Given the description of an element on the screen output the (x, y) to click on. 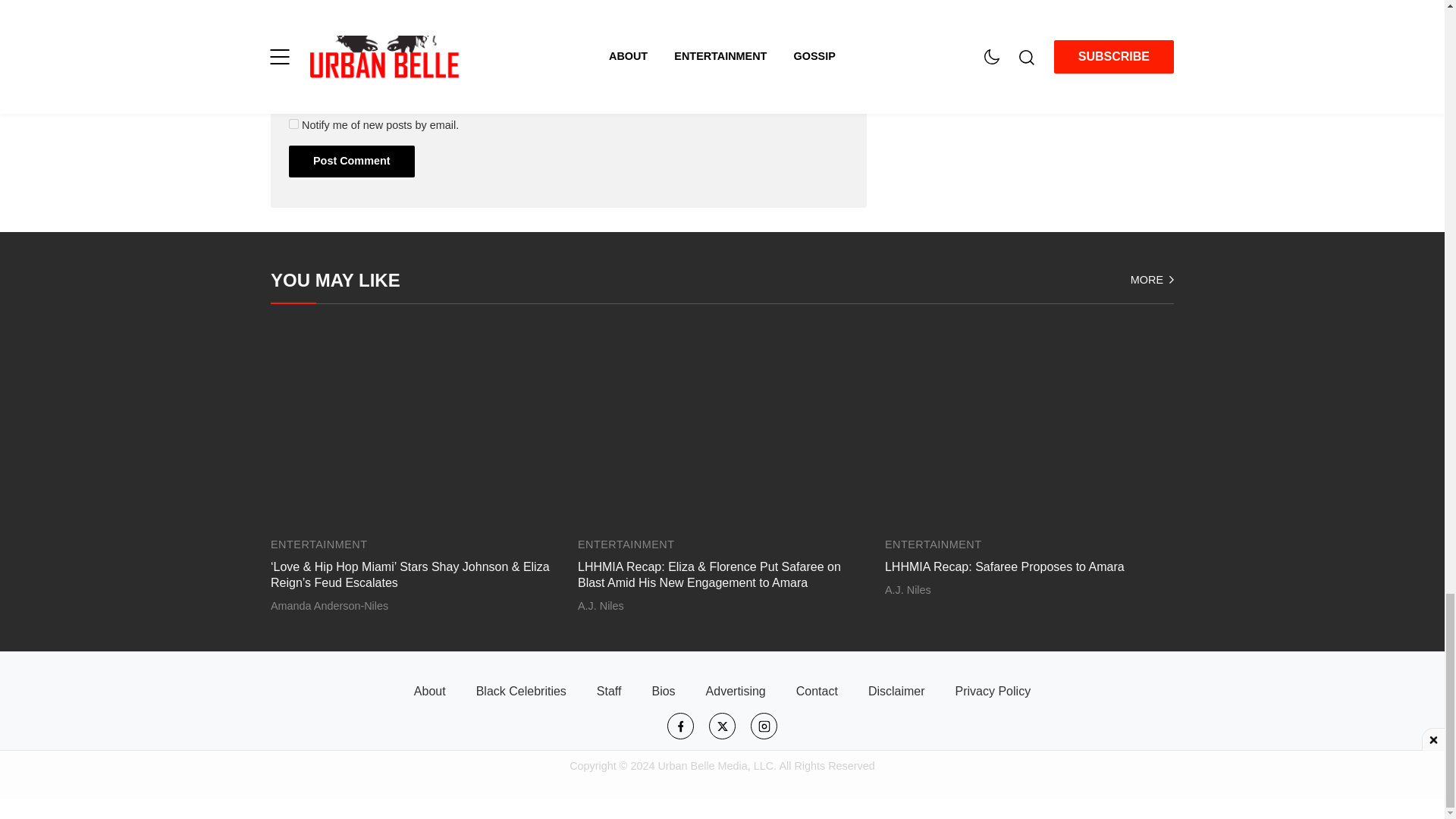
subscribe (293, 123)
Post Comment (351, 161)
